Given the description of an element on the screen output the (x, y) to click on. 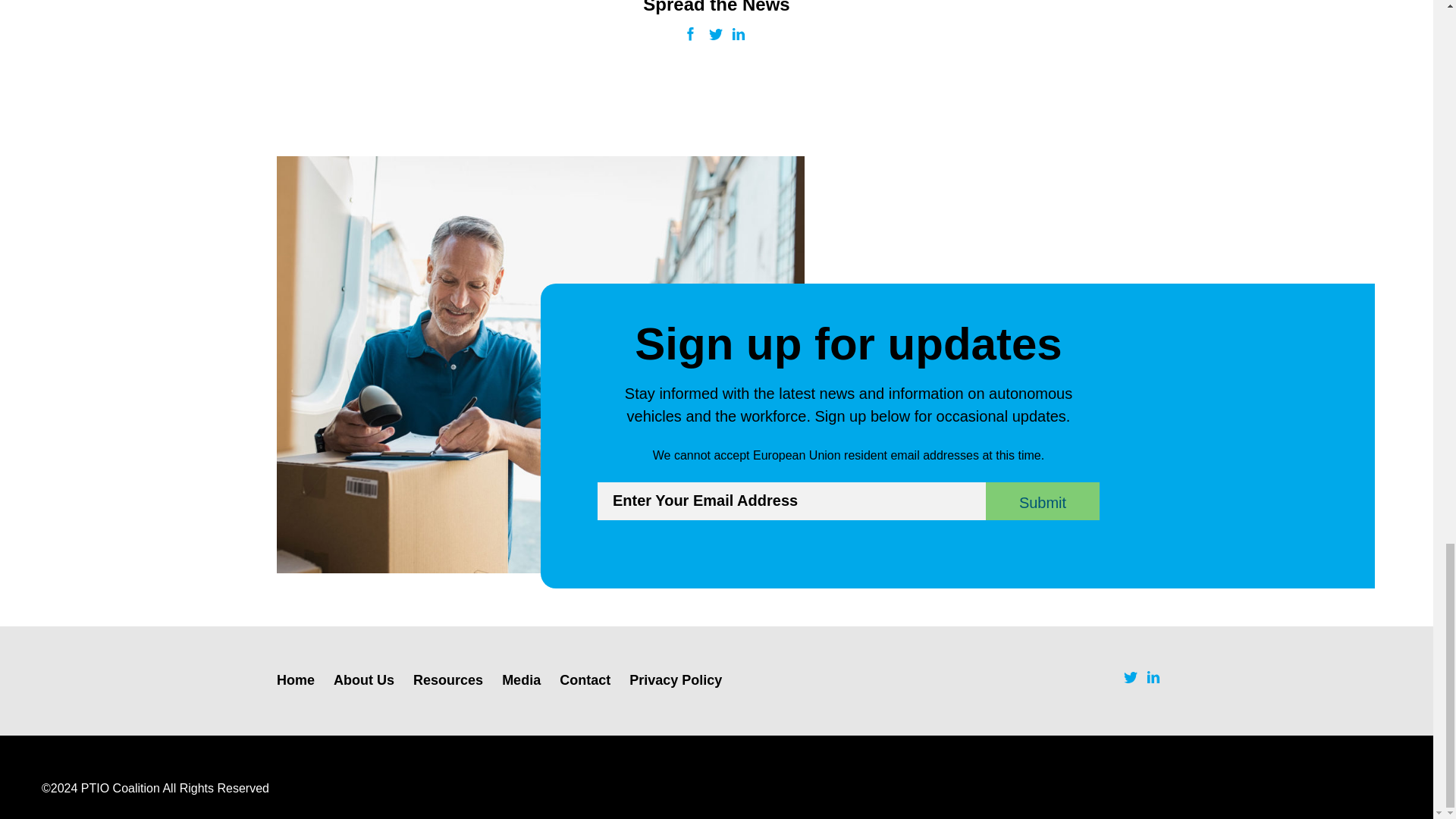
Resources (448, 680)
About Us (363, 680)
Media (521, 680)
Privacy Policy (675, 680)
Contact (584, 680)
Submit (1042, 501)
Home (295, 680)
